Given the description of an element on the screen output the (x, y) to click on. 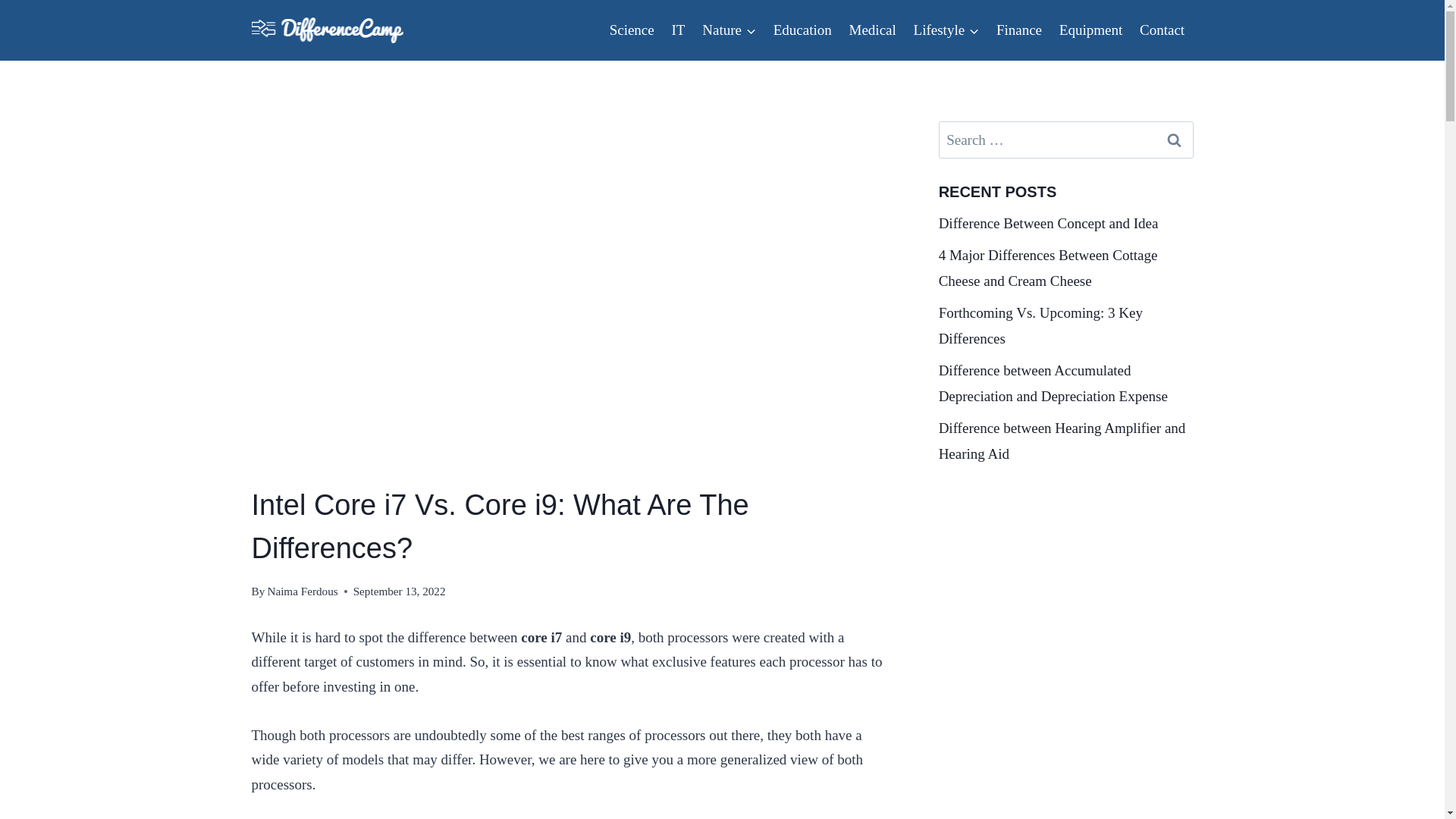
Medical (872, 29)
Nature (729, 29)
Contact (1162, 29)
Education (802, 29)
Science (630, 29)
Lifestyle (945, 29)
Search (1174, 139)
Naima Ferdous (301, 590)
Search (1174, 139)
Finance (1018, 29)
Equipment (1090, 29)
